Given the description of an element on the screen output the (x, y) to click on. 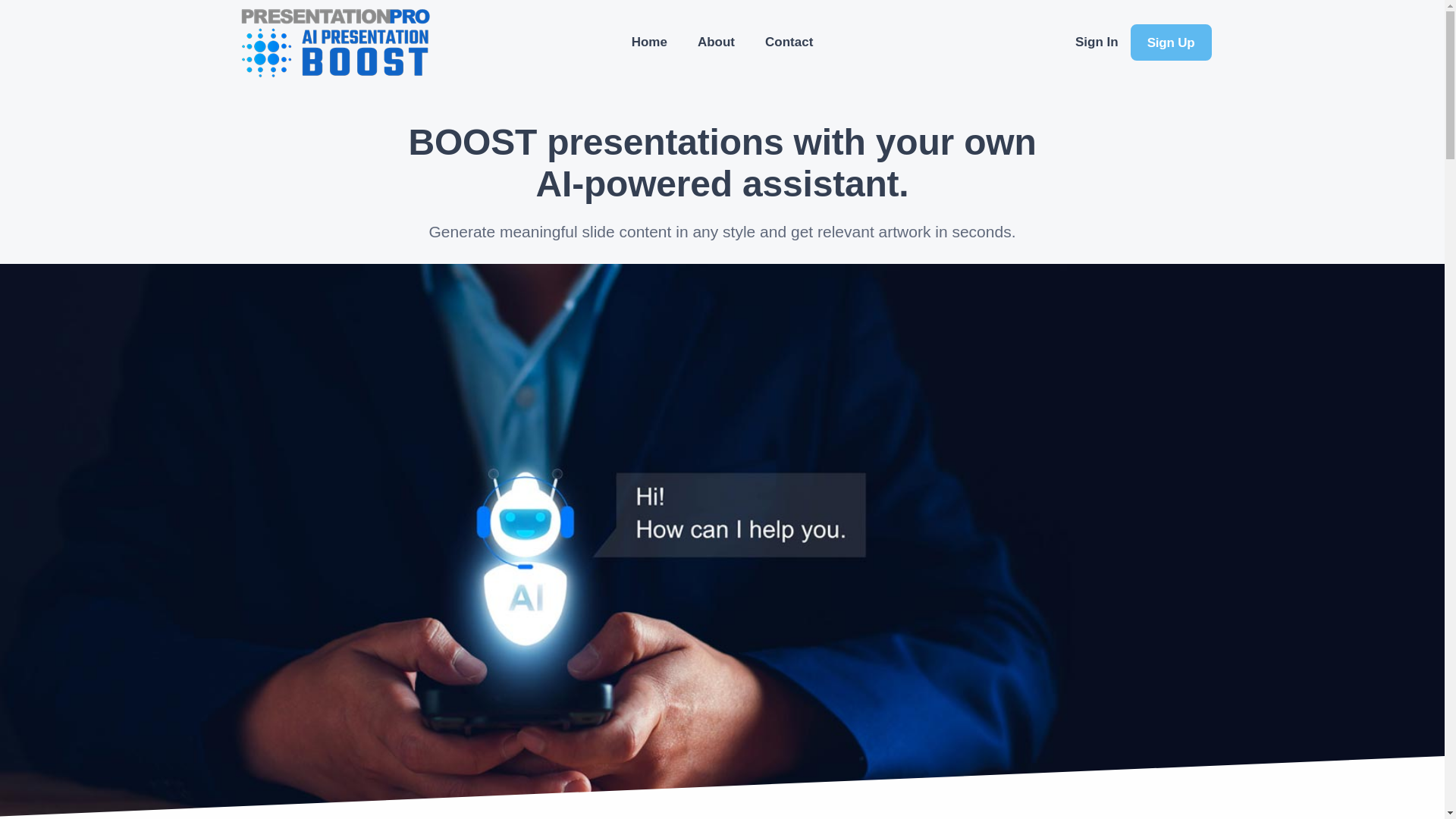
About (715, 42)
Contact (788, 42)
Sign Up (1171, 42)
Sign In (1096, 42)
Home (648, 42)
